Given the description of an element on the screen output the (x, y) to click on. 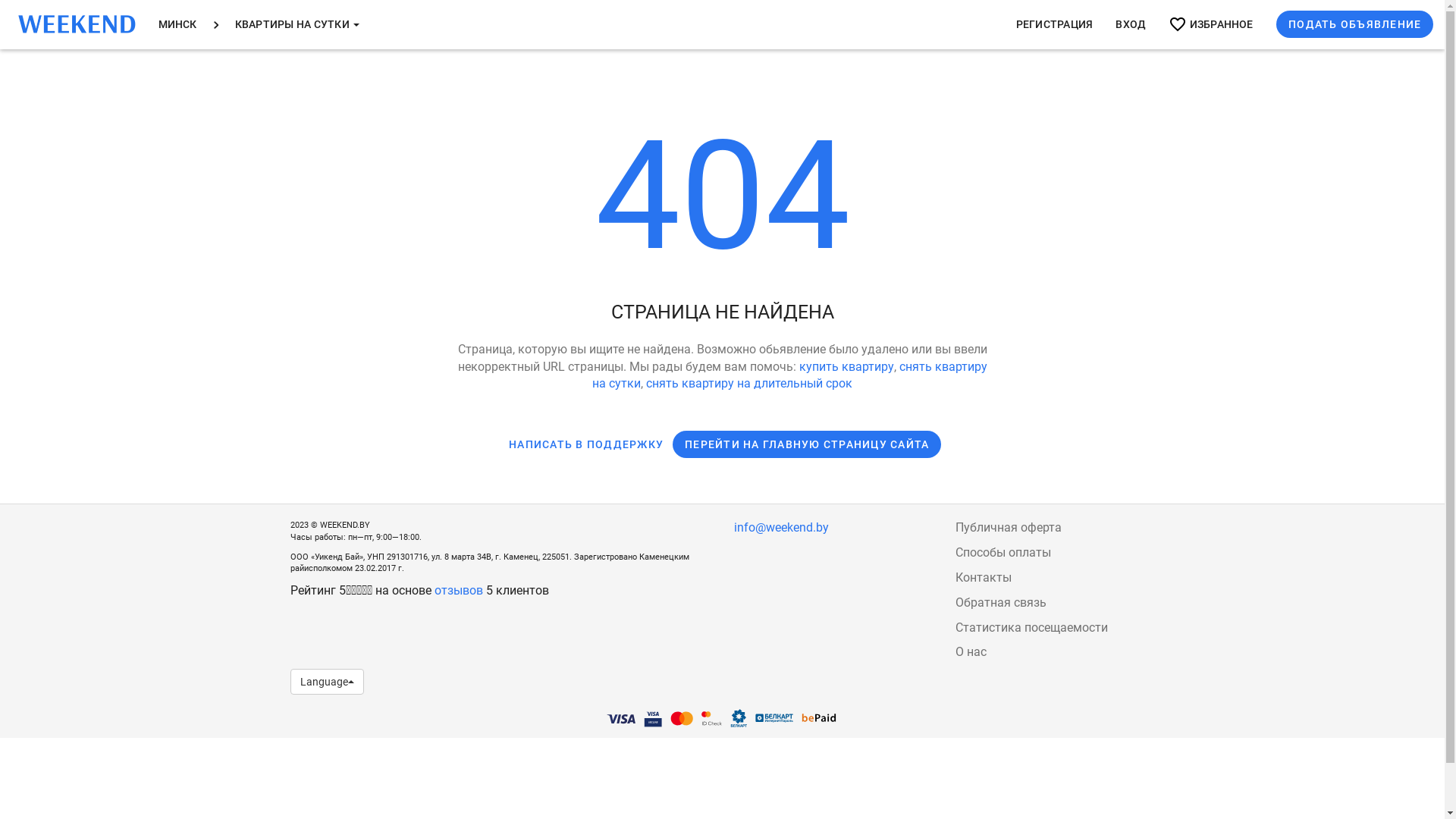
Language Element type: text (326, 681)
info@weekend.by Element type: text (781, 527)
